Given the description of an element on the screen output the (x, y) to click on. 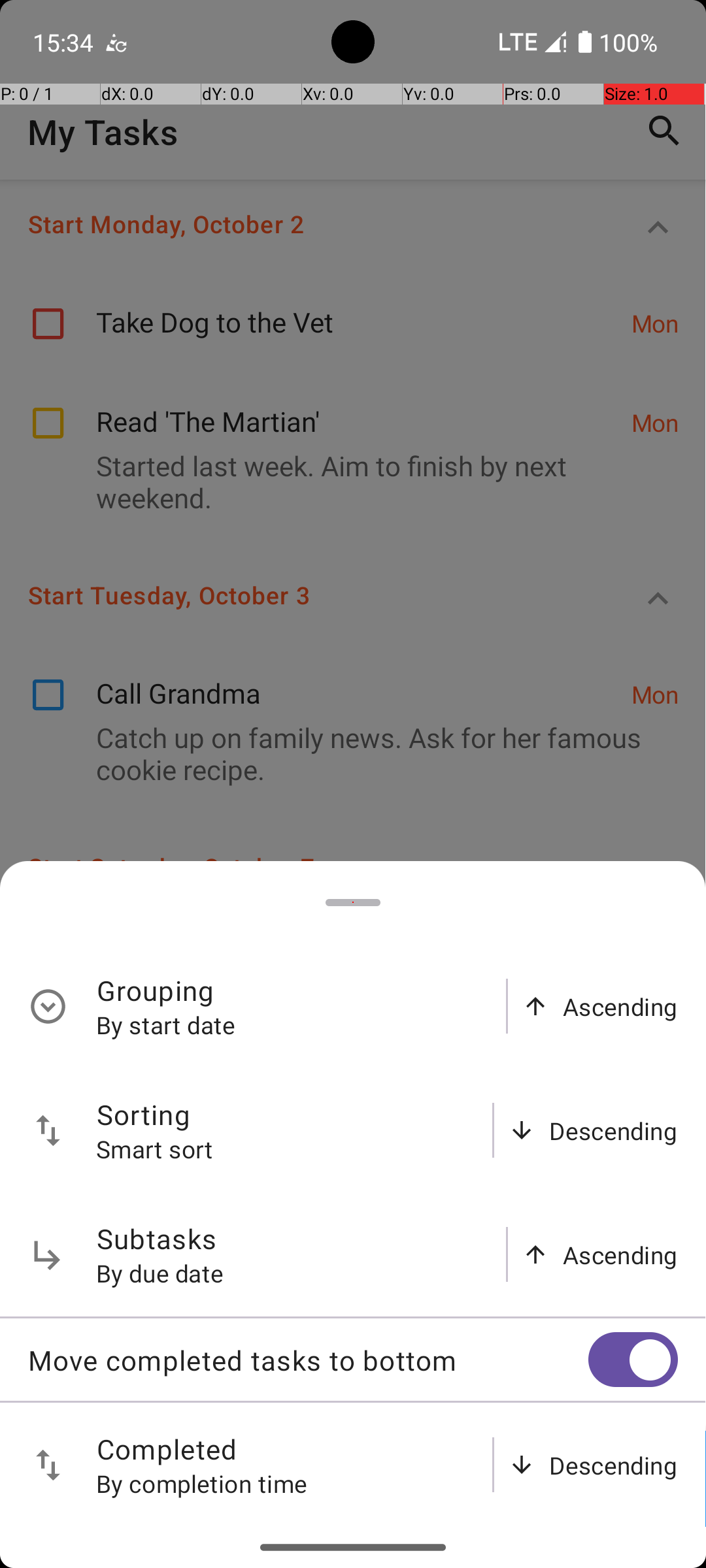
Grouping Element type: android.widget.TextView (155, 989)
By start date Element type: android.widget.TextView (165, 1024)
Sorting Element type: android.widget.TextView (143, 1113)
Smart sort Element type: android.widget.TextView (154, 1148)
Subtasks Element type: android.widget.TextView (156, 1238)
By due date Element type: android.widget.TextView (160, 1273)
Move completed tasks to bottom Element type: android.widget.TextView (307, 1359)
Completed Element type: android.widget.TextView (166, 1448)
By completion time Element type: android.widget.TextView (201, 1483)
Ascending Element type: android.widget.TextView (619, 1006)
Descending Element type: android.widget.TextView (613, 1130)
